Given the description of an element on the screen output the (x, y) to click on. 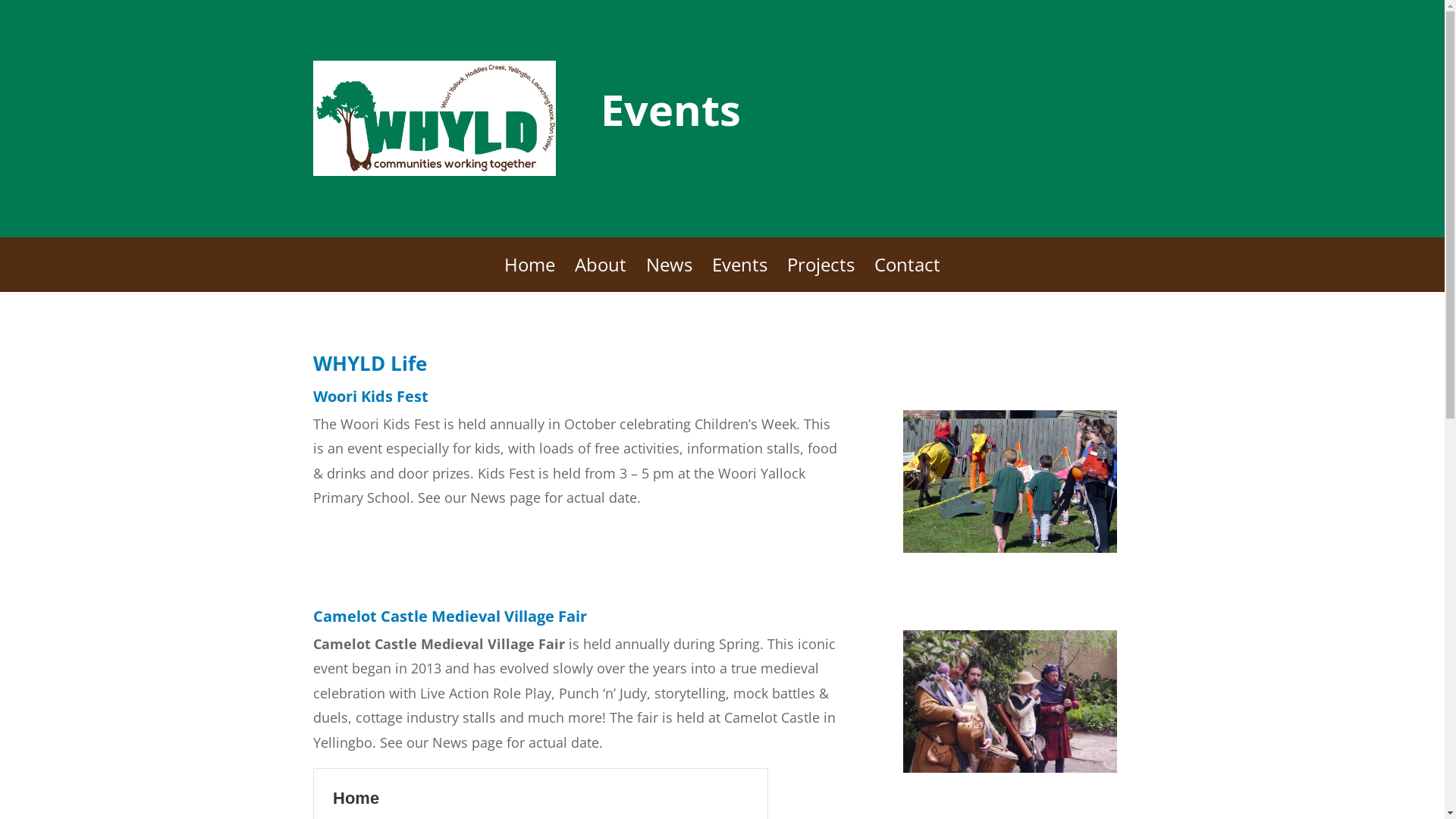
News Element type: text (669, 275)
1 Element type: text (1003, 577)
Projects Element type: text (820, 275)
Home Element type: text (529, 275)
Events Element type: text (739, 275)
About Element type: text (600, 275)
2 Element type: text (1016, 577)
Contact Element type: text (907, 275)
